Given the description of an element on the screen output the (x, y) to click on. 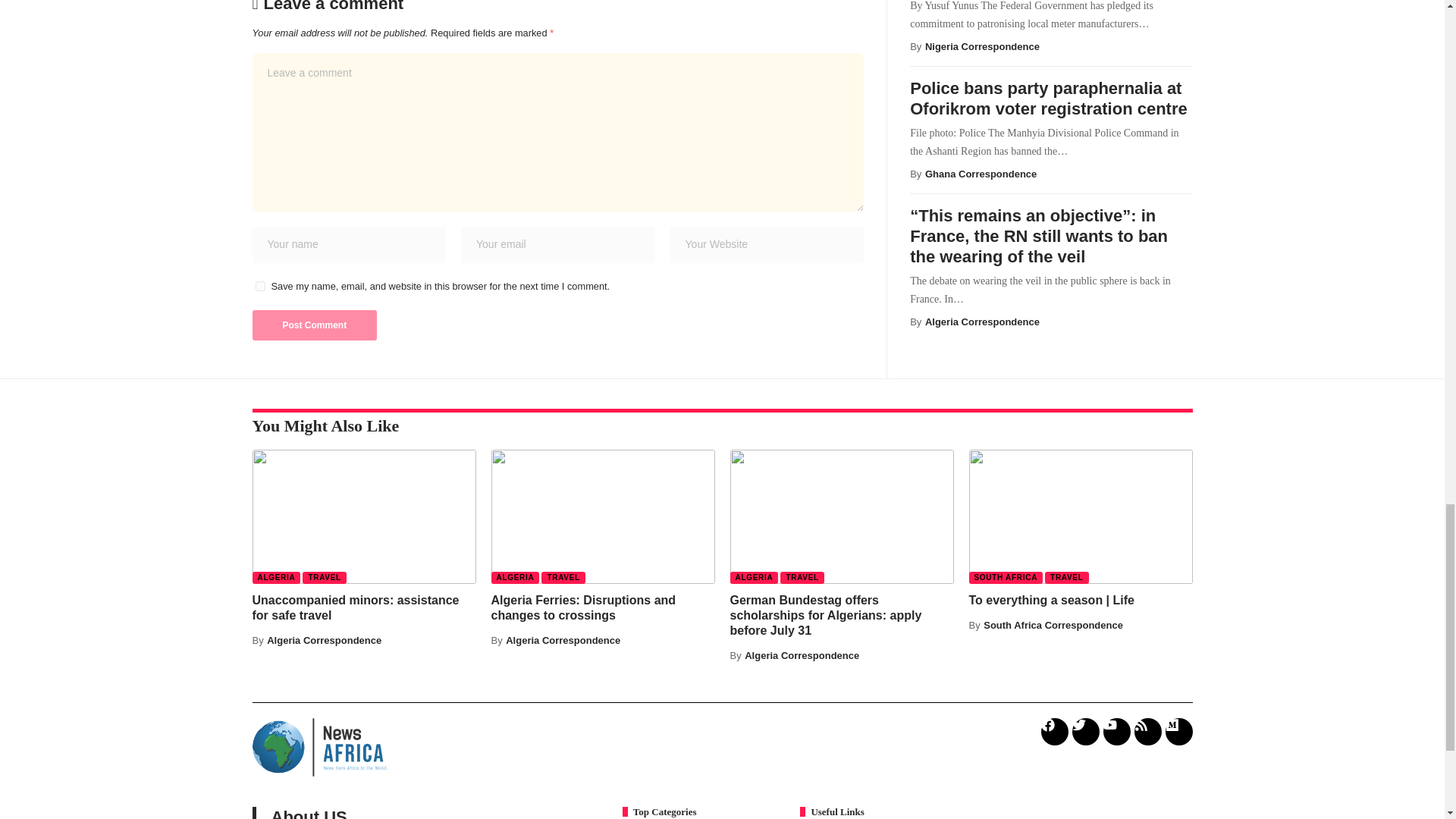
yes (259, 286)
Unaccompanied minors: assistance for safe travel (363, 516)
Algeria Ferries: Disruptions and changes to crossings (603, 516)
Post Comment (314, 325)
